Given the description of an element on the screen output the (x, y) to click on. 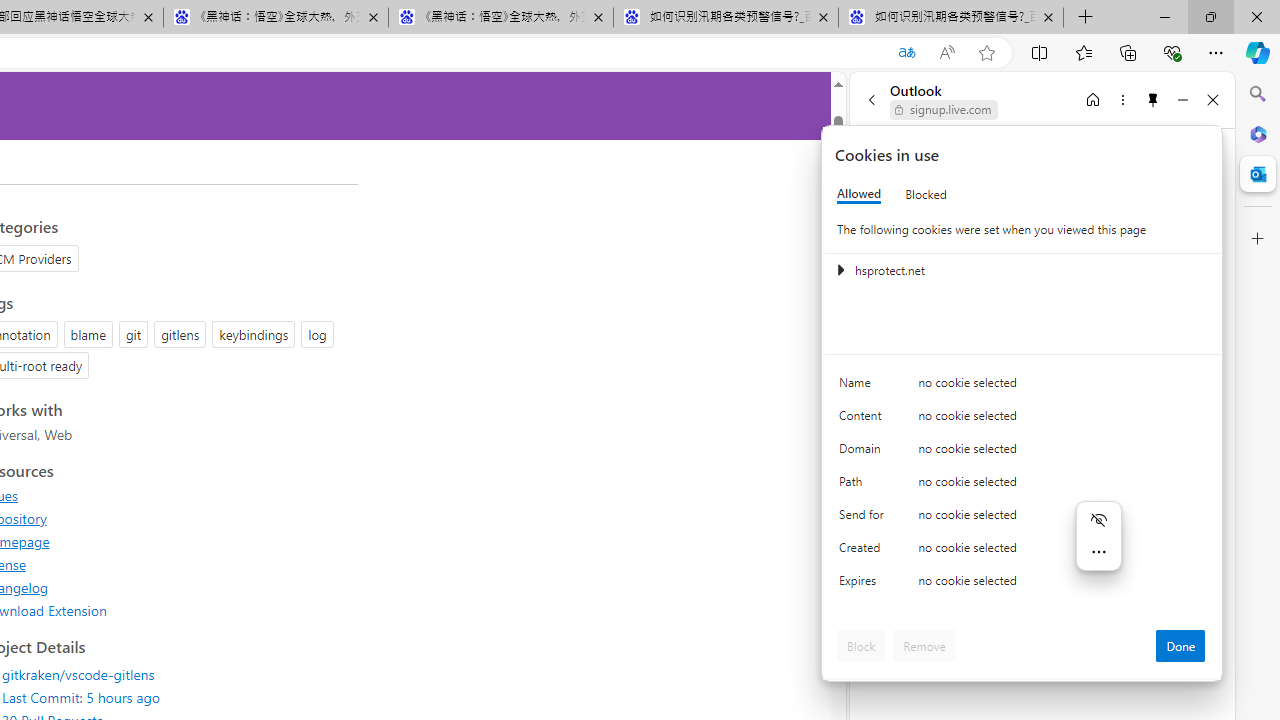
Hide menu (1098, 519)
no cookie selected (1062, 585)
Expires (864, 585)
Remove (924, 645)
